Given the description of an element on the screen output the (x, y) to click on. 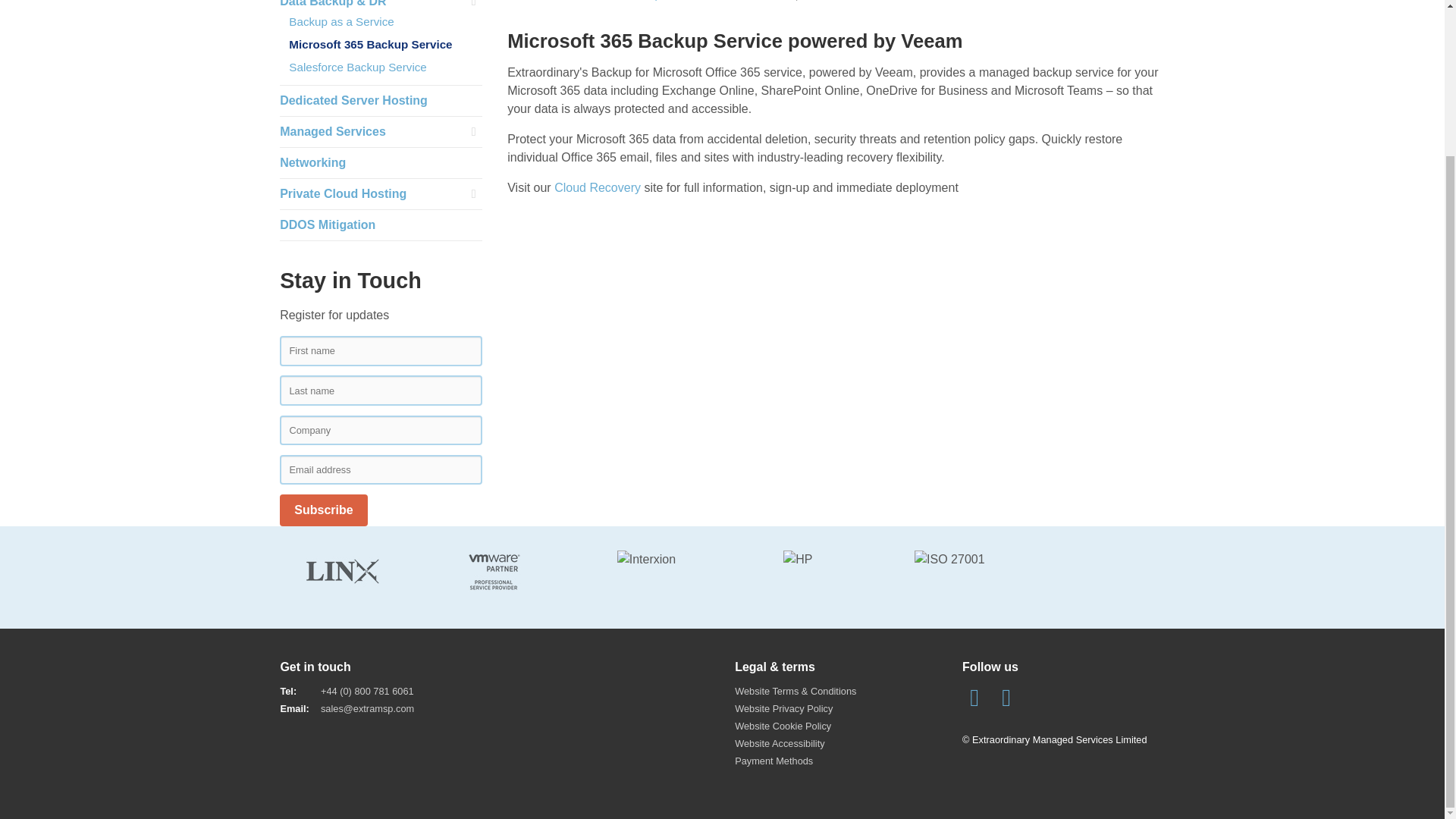
DDOS Mitigation (327, 224)
Private Cloud Hosting (342, 193)
Cloud Recovery (597, 187)
Microsoft 365 Backup Service (369, 43)
Subscribe (323, 510)
Dedicated Server Hosting (353, 100)
Networking (312, 162)
Services (572, 0)
